Given the description of an element on the screen output the (x, y) to click on. 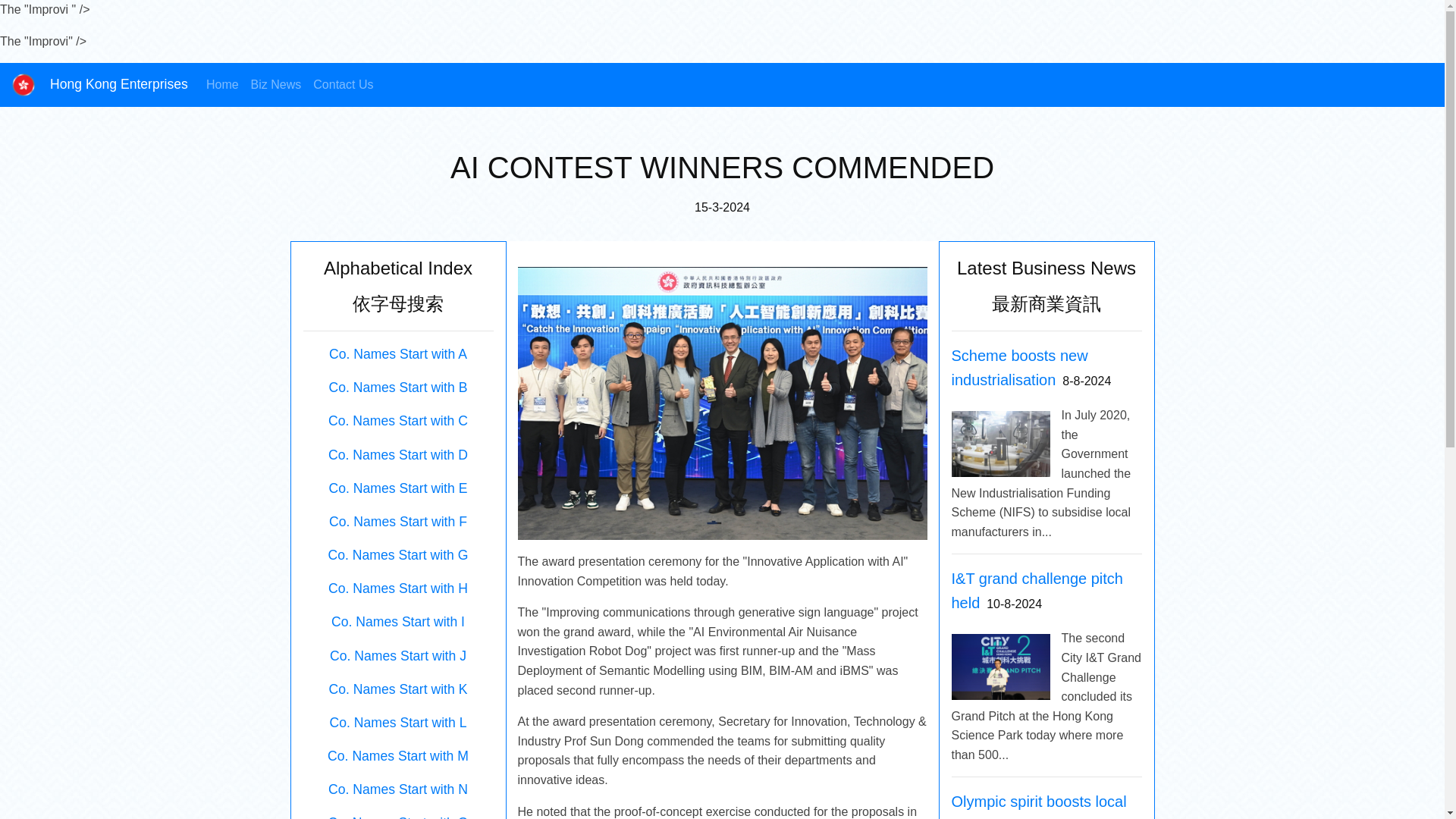
Co. Names Start with H (398, 588)
Co. Names Start with I (397, 621)
Co. Names Start with F (398, 521)
Co. Names Start with A (398, 353)
Co. Names Start with C (398, 420)
Scheme boosts new industrialisation (1018, 367)
Hong Kong Enterprises (99, 84)
Biz News (275, 84)
Home (222, 84)
Co. Names Start with B (398, 387)
